Given the description of an element on the screen output the (x, y) to click on. 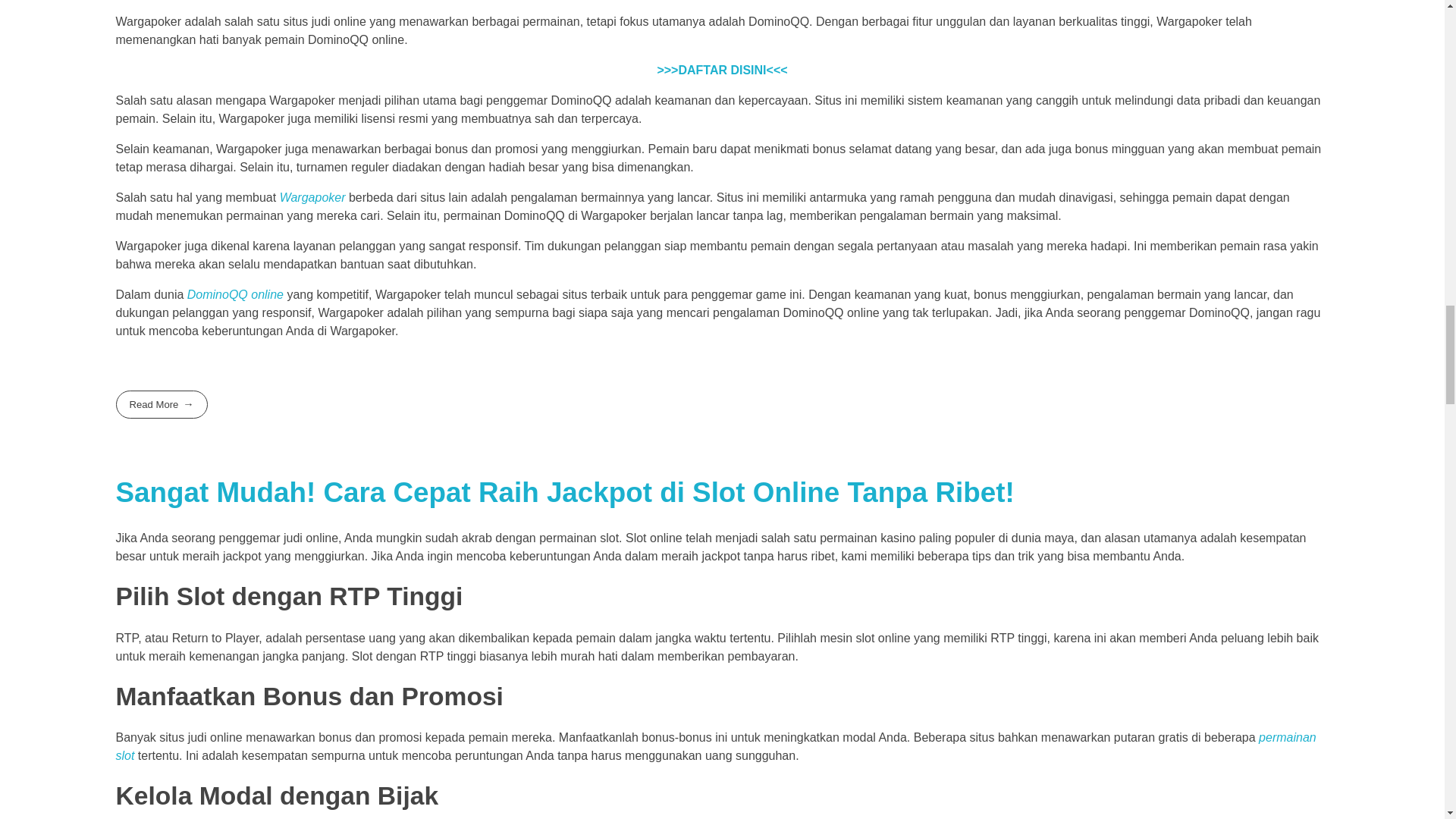
DominoQQ online (235, 294)
permainan slot (715, 746)
Wargapoker (312, 196)
Read More (160, 404)
